Given the description of an element on the screen output the (x, y) to click on. 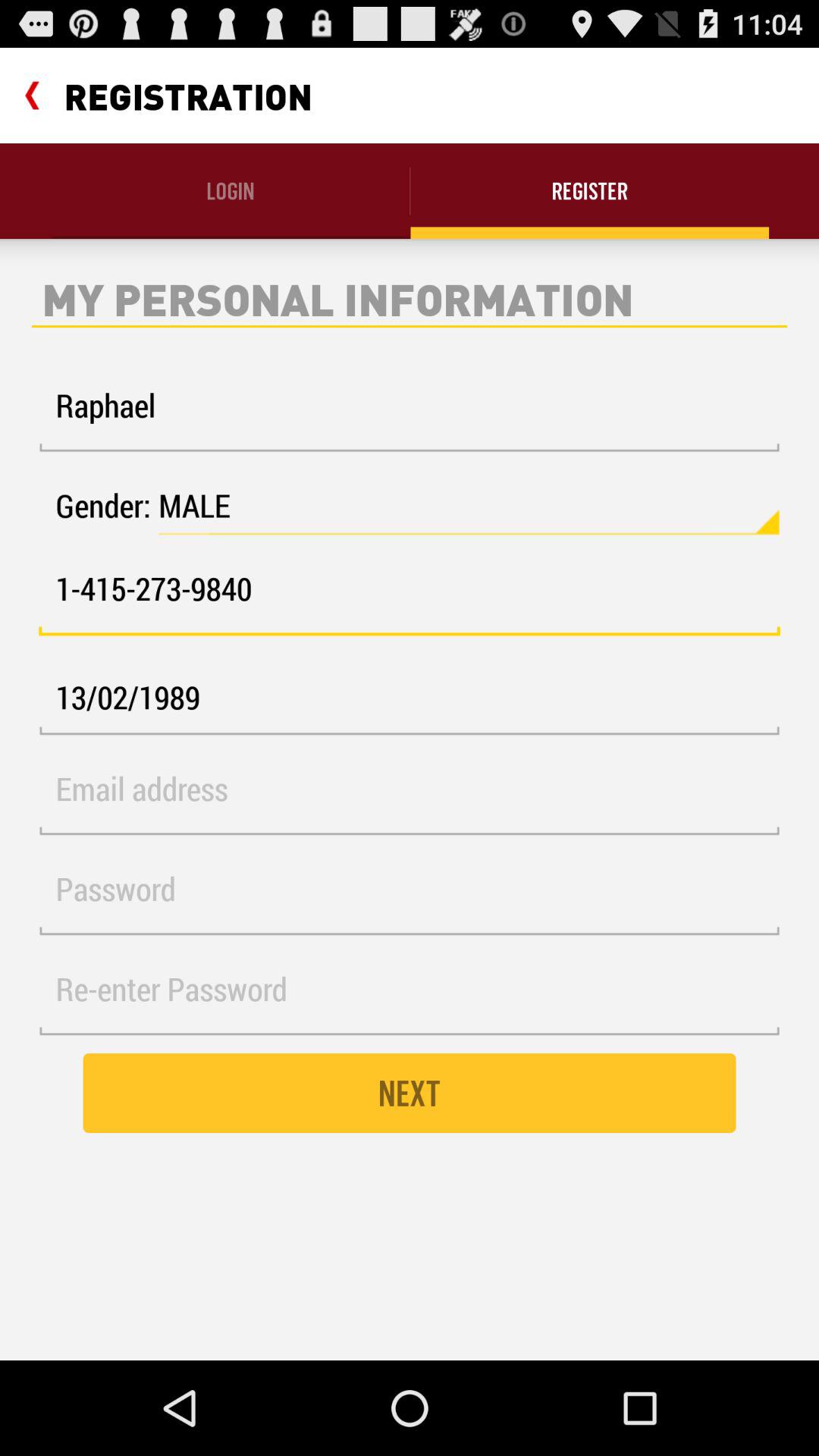
turn on item below the my personal information item (409, 414)
